Given the description of an element on the screen output the (x, y) to click on. 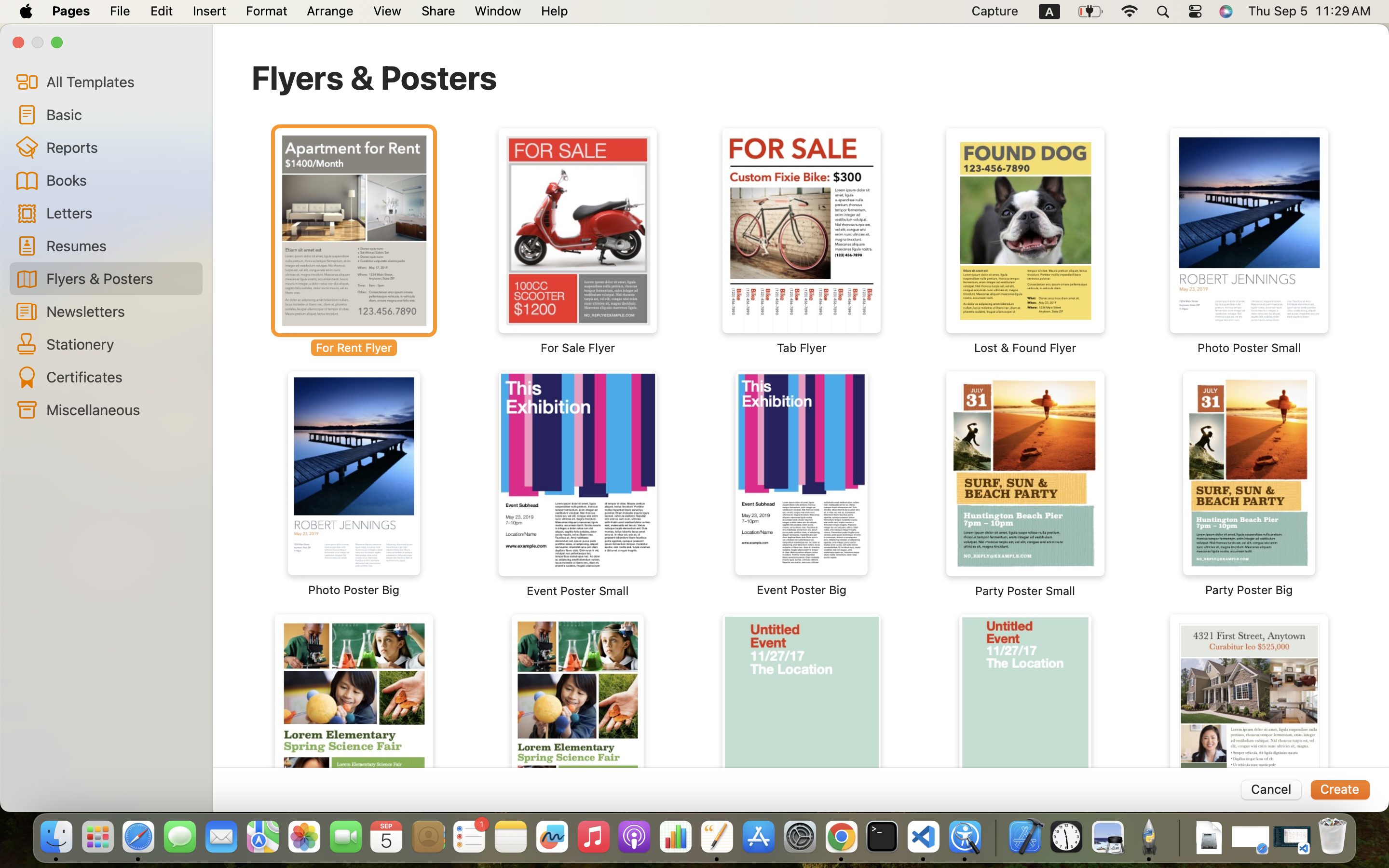
Resumes Element type: AXStaticText (120, 245)
Stationery Element type: AXStaticText (120, 343)
‎⁨Event Poster Small⁩ Element type: AXButton (577, 484)
‎⁨Party Poster Small⁩ Element type: AXButton (1025, 484)
Flyers & Posters Element type: AXStaticText (374, 76)
